Given the description of an element on the screen output the (x, y) to click on. 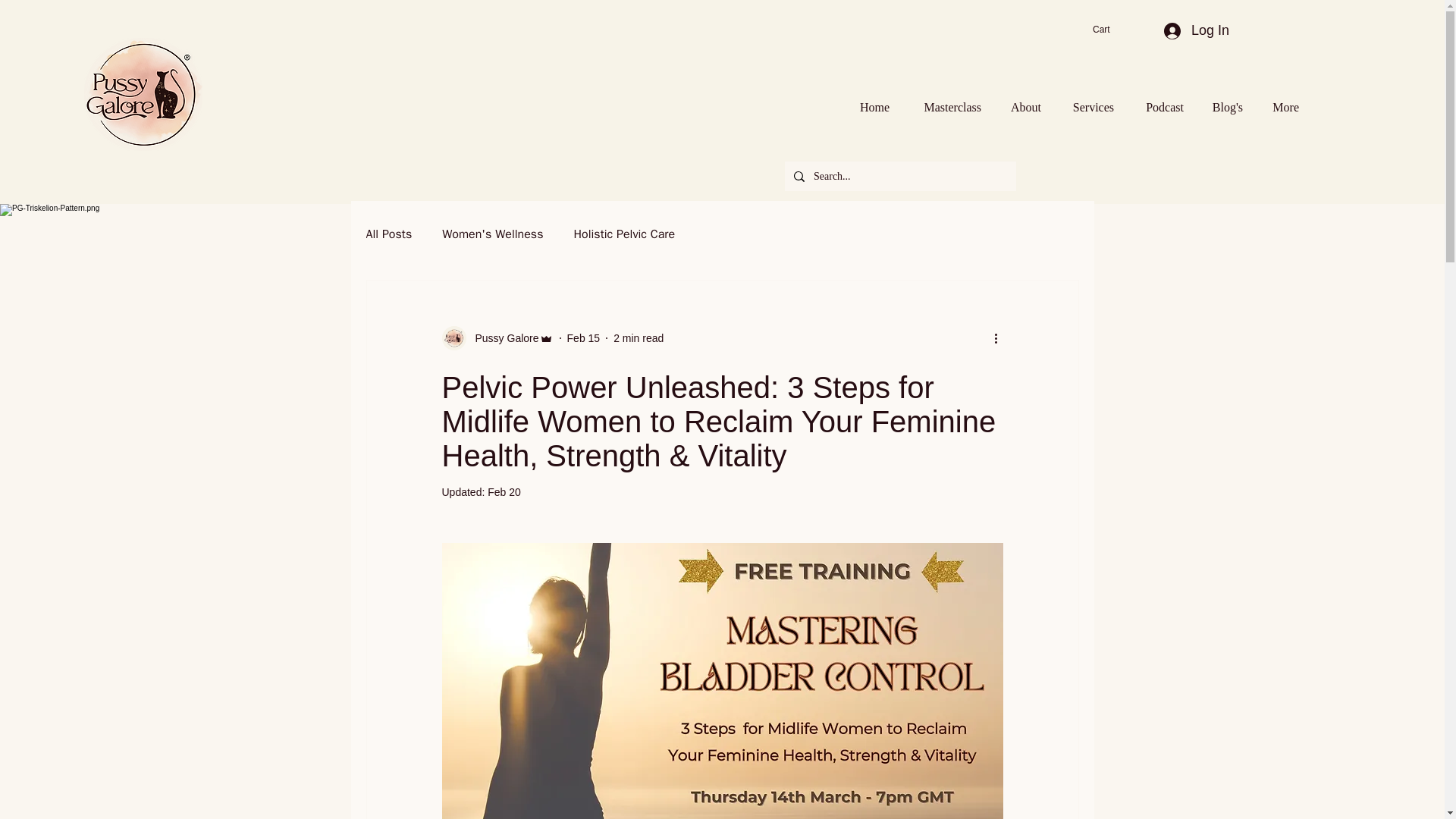
Pussy Galore (497, 337)
Podcast (1161, 100)
Services (1090, 100)
About (1024, 100)
Pussy Galore (501, 338)
Cart (1111, 29)
Blog's (1226, 100)
2 min read (637, 337)
Masterclass (948, 100)
Holistic Pelvic Care (624, 233)
